Given the description of an element on the screen output the (x, y) to click on. 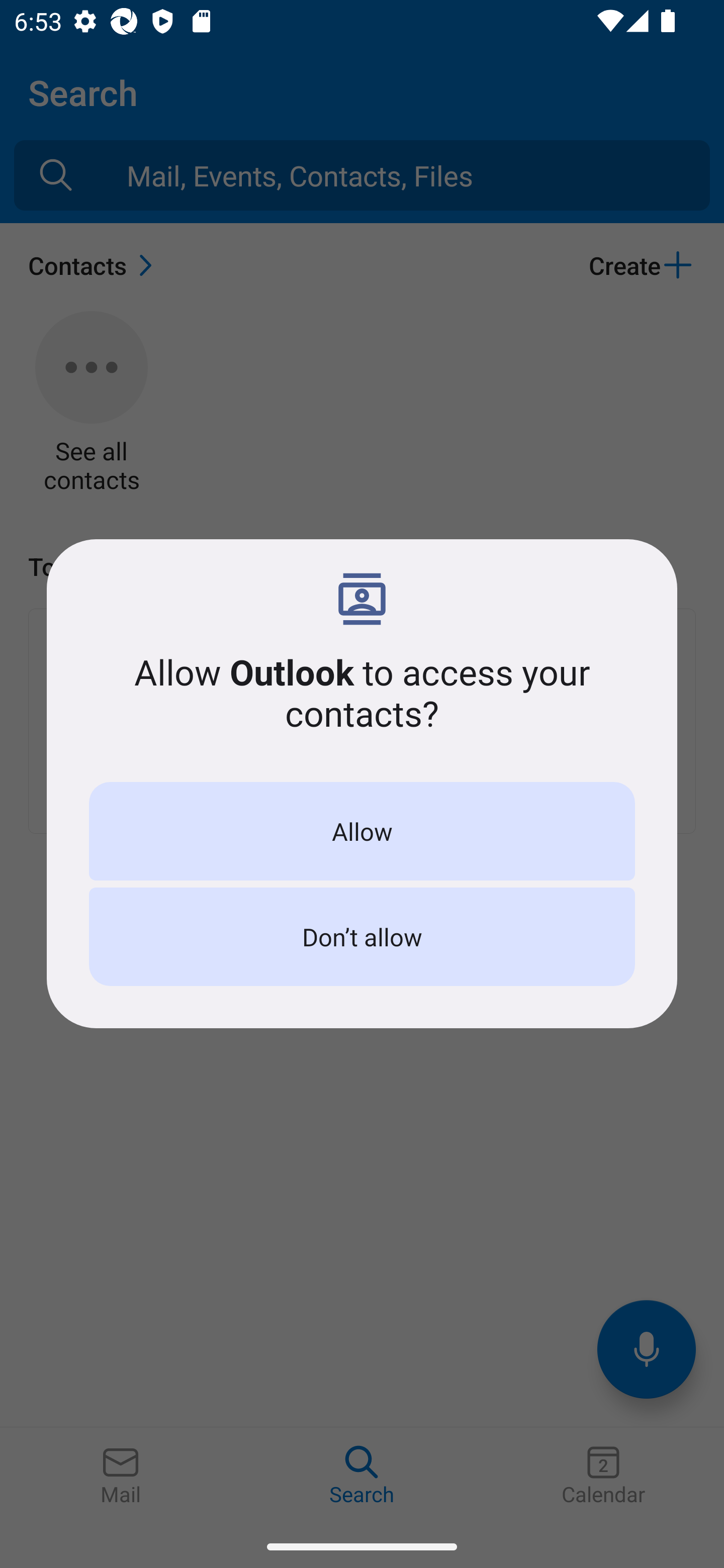
Allow (361, 831)
Don’t allow (361, 936)
